Given the description of an element on the screen output the (x, y) to click on. 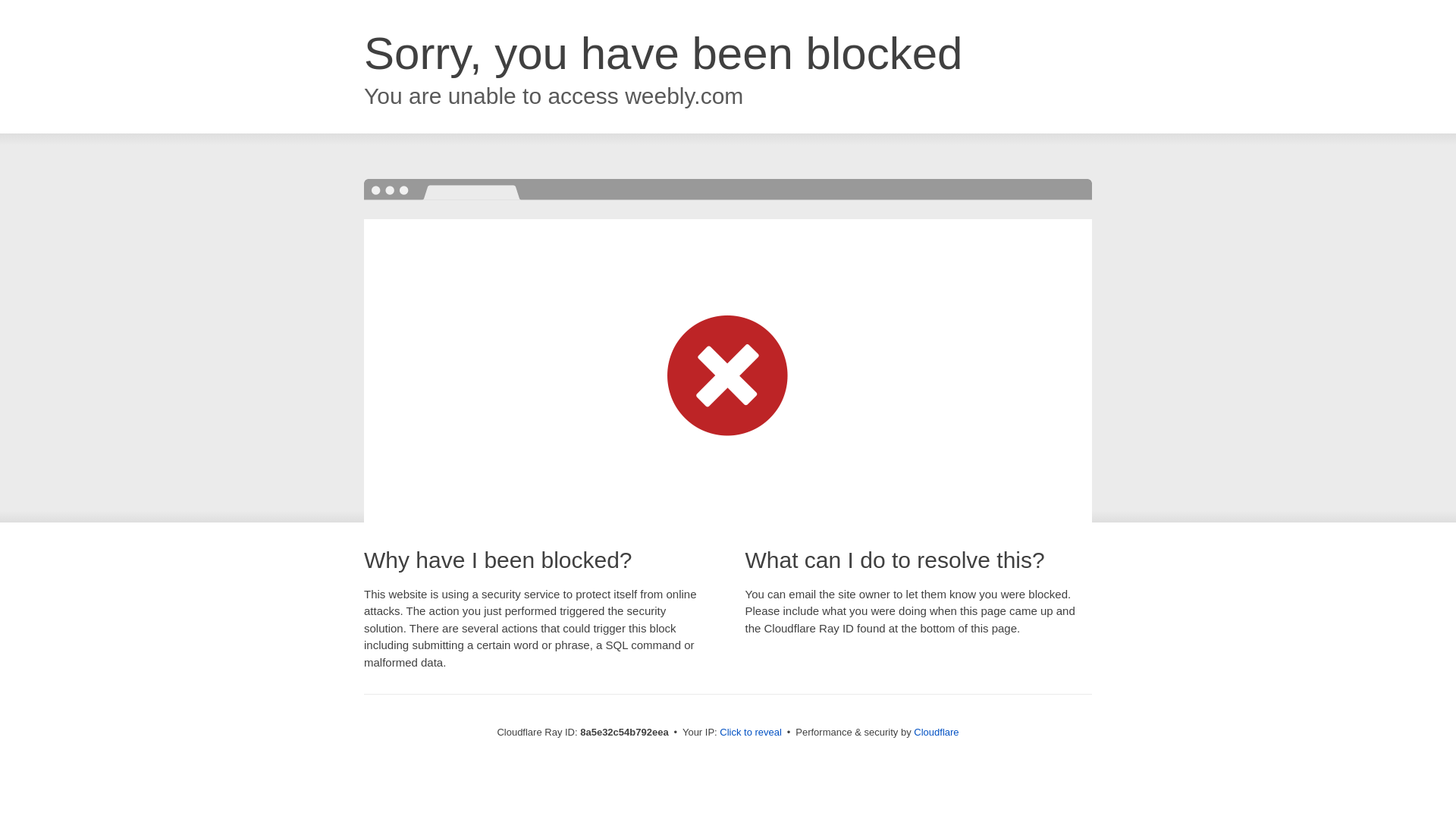
Cloudflare (936, 731)
Click to reveal (750, 732)
